Given the description of an element on the screen output the (x, y) to click on. 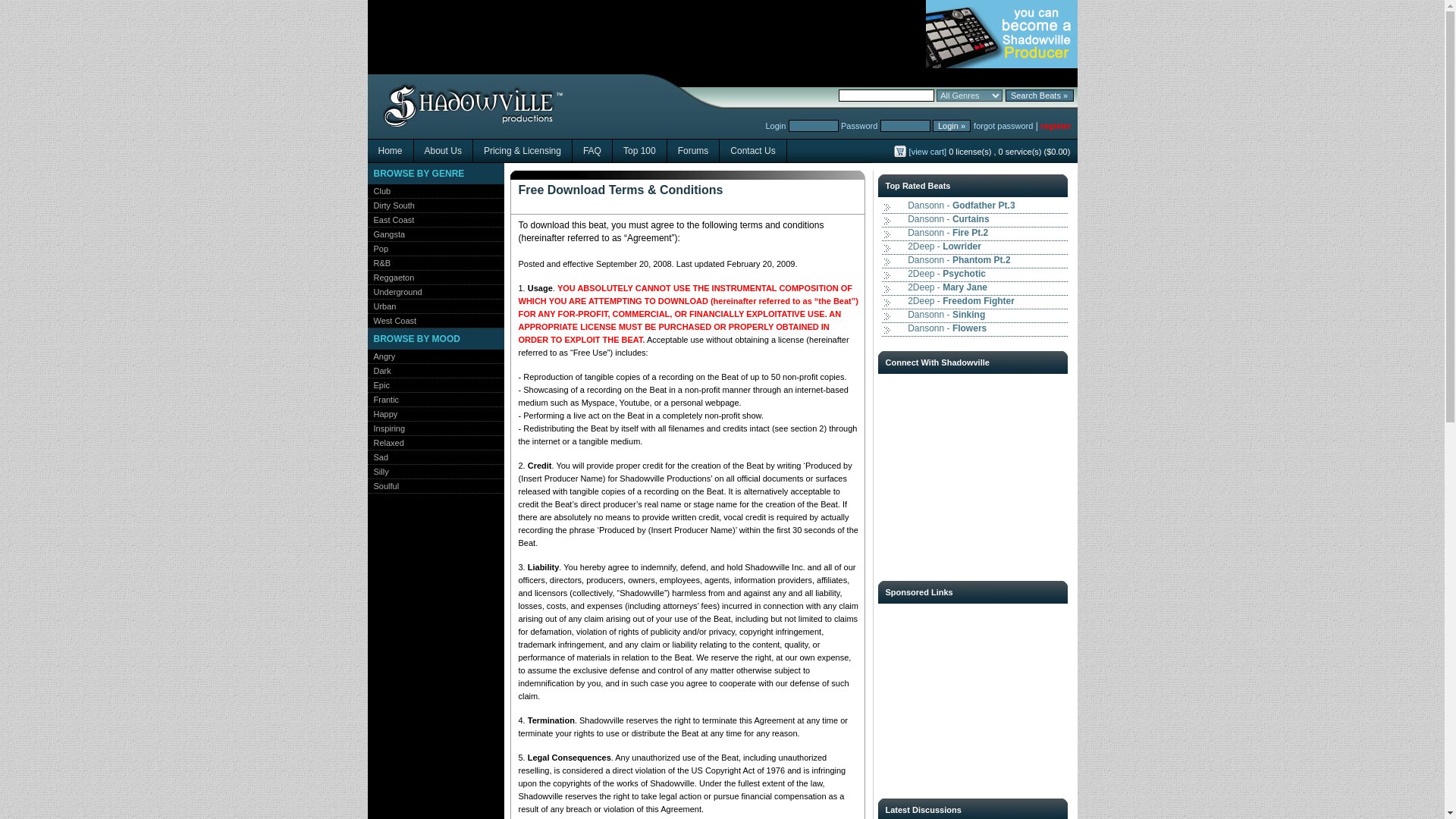
Frequently Asked Questions (592, 150)
Reggaeton Beats (389, 276)
Silly (377, 470)
Soulful (382, 485)
Club (378, 190)
Buy Beats (480, 108)
Underground (394, 291)
Gangsta Beats (385, 234)
Sad (377, 456)
Frantic (382, 399)
Top 100 Beats (639, 150)
West Coast (391, 320)
East Coast (389, 219)
Forums (693, 150)
Angry (380, 356)
